Given the description of an element on the screen output the (x, y) to click on. 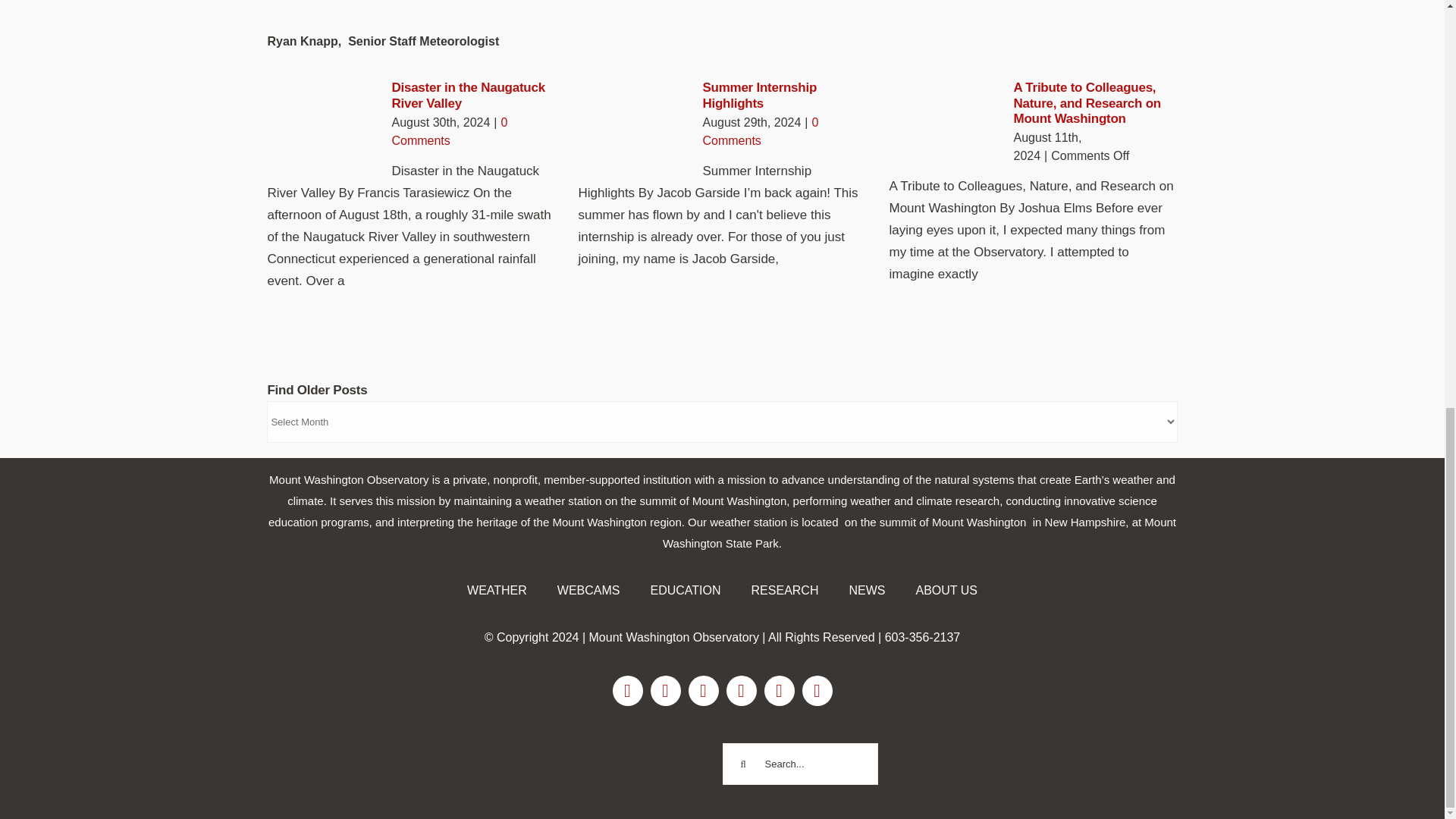
Twitter (703, 690)
Email (779, 690)
Instagram (665, 690)
YouTube (741, 690)
Facebook (627, 690)
Phone (817, 690)
